Given the description of an element on the screen output the (x, y) to click on. 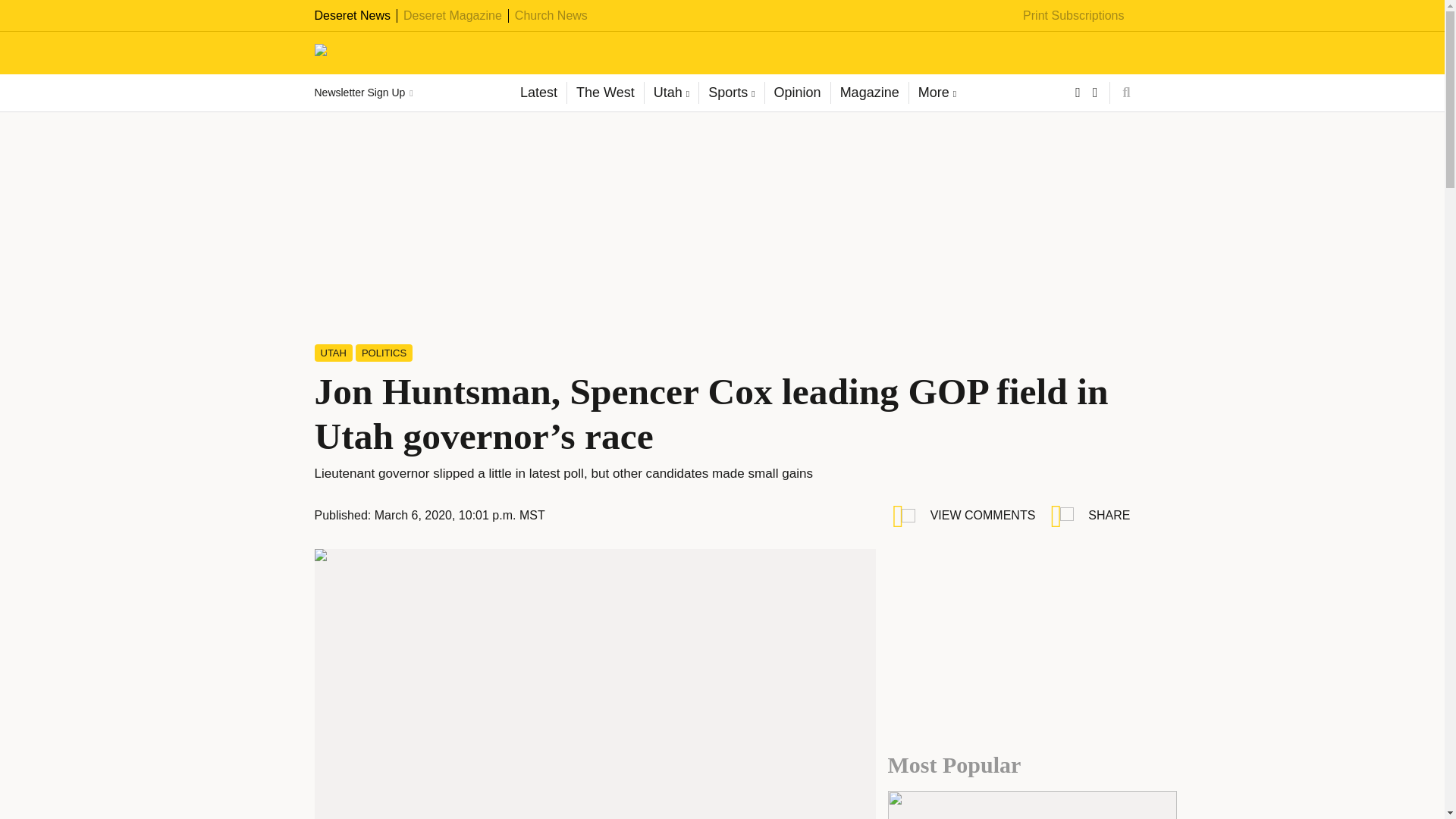
Sports (730, 92)
Deseret Magazine (452, 15)
Print Subscriptions (1073, 15)
The West (604, 92)
UTAH (333, 352)
Opinion (796, 92)
Newsletter Sign Up (363, 92)
Latest (538, 92)
Utah (670, 92)
Deseret News (352, 15)
